Given the description of an element on the screen output the (x, y) to click on. 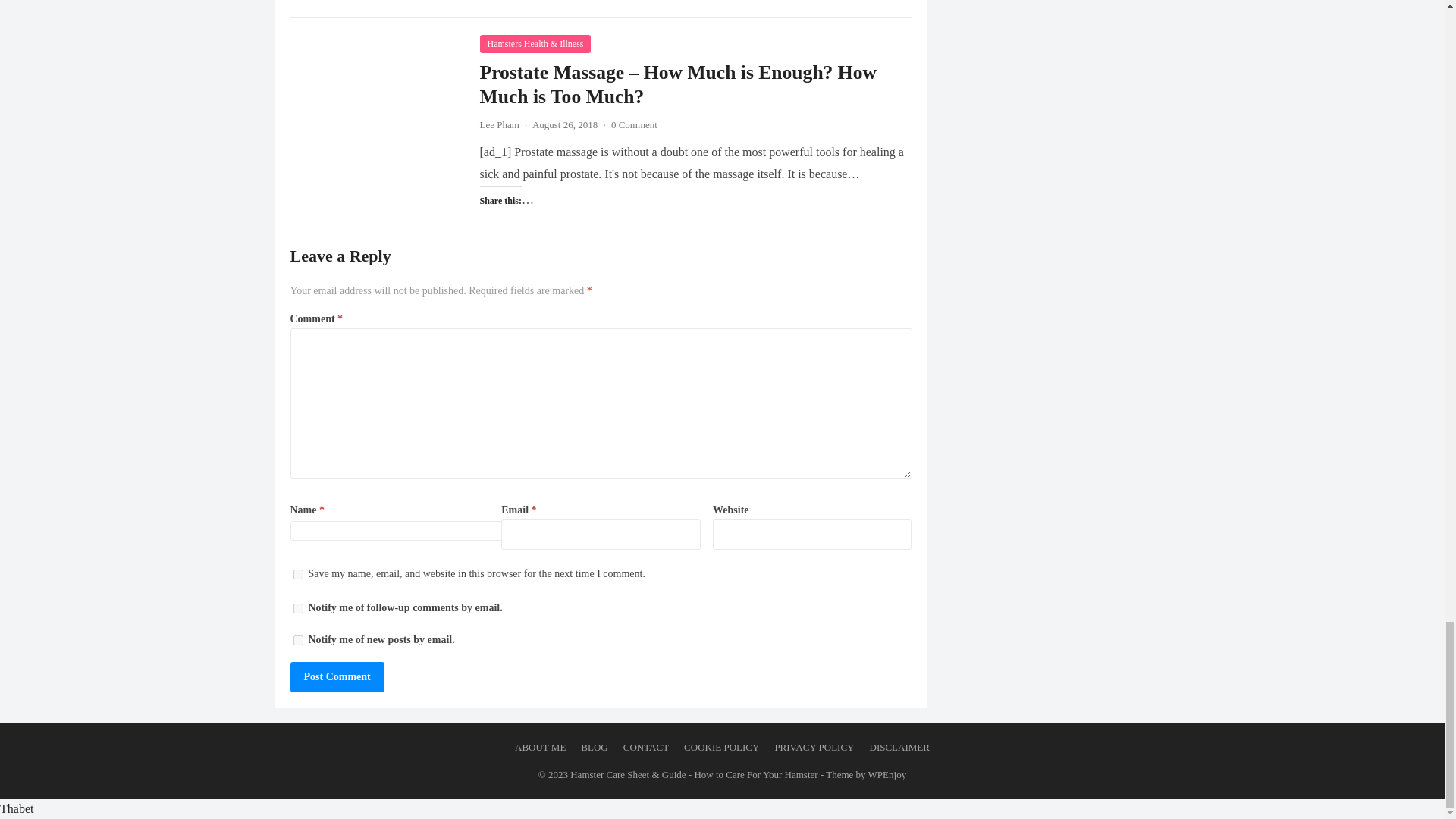
yes (297, 574)
subscribe (297, 608)
subscribe (297, 640)
Post Comment (336, 676)
